Given the description of an element on the screen output the (x, y) to click on. 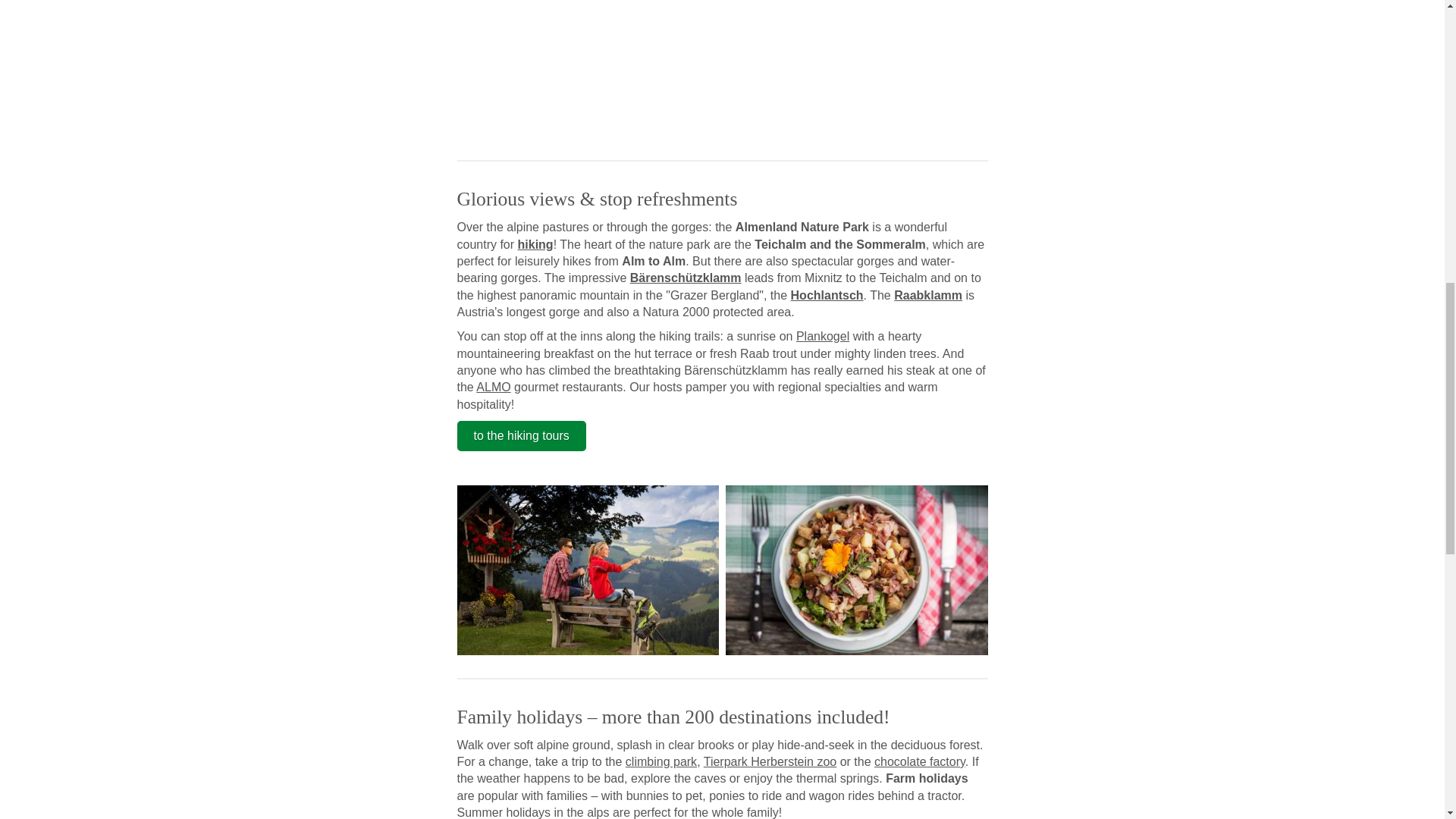
to the animal park Herberstein (769, 761)
chocolate factory (920, 761)
Tierpark Herberstein zoo (769, 761)
hiking (535, 244)
More about ALMO (493, 386)
Plankogel (822, 336)
to the chocolate factory (920, 761)
climbing park (661, 761)
Raabklamm (927, 295)
More about Plankogel (822, 336)
More about Hochlantsch (826, 295)
to the climbing park (661, 761)
Hochlantsch (826, 295)
Hiking in Gasen (588, 570)
More about Raabklamm (927, 295)
